Given the description of an element on the screen output the (x, y) to click on. 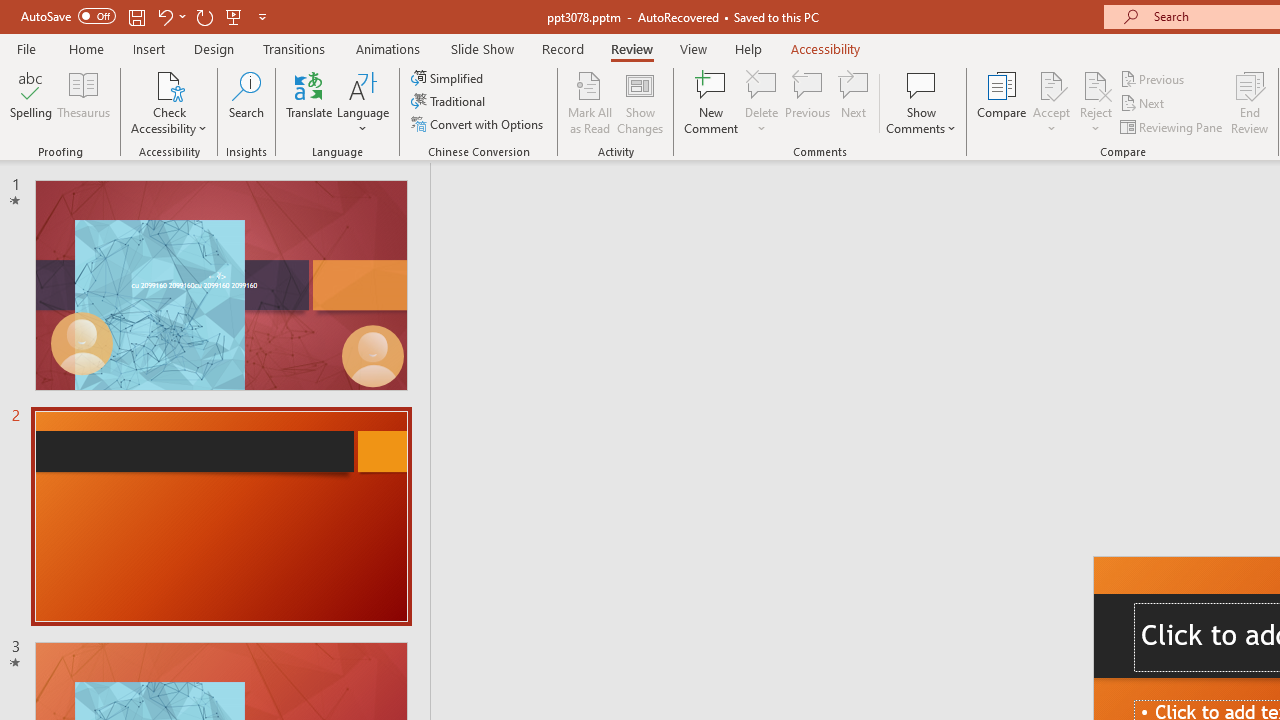
Accept (1051, 102)
